Given the description of an element on the screen output the (x, y) to click on. 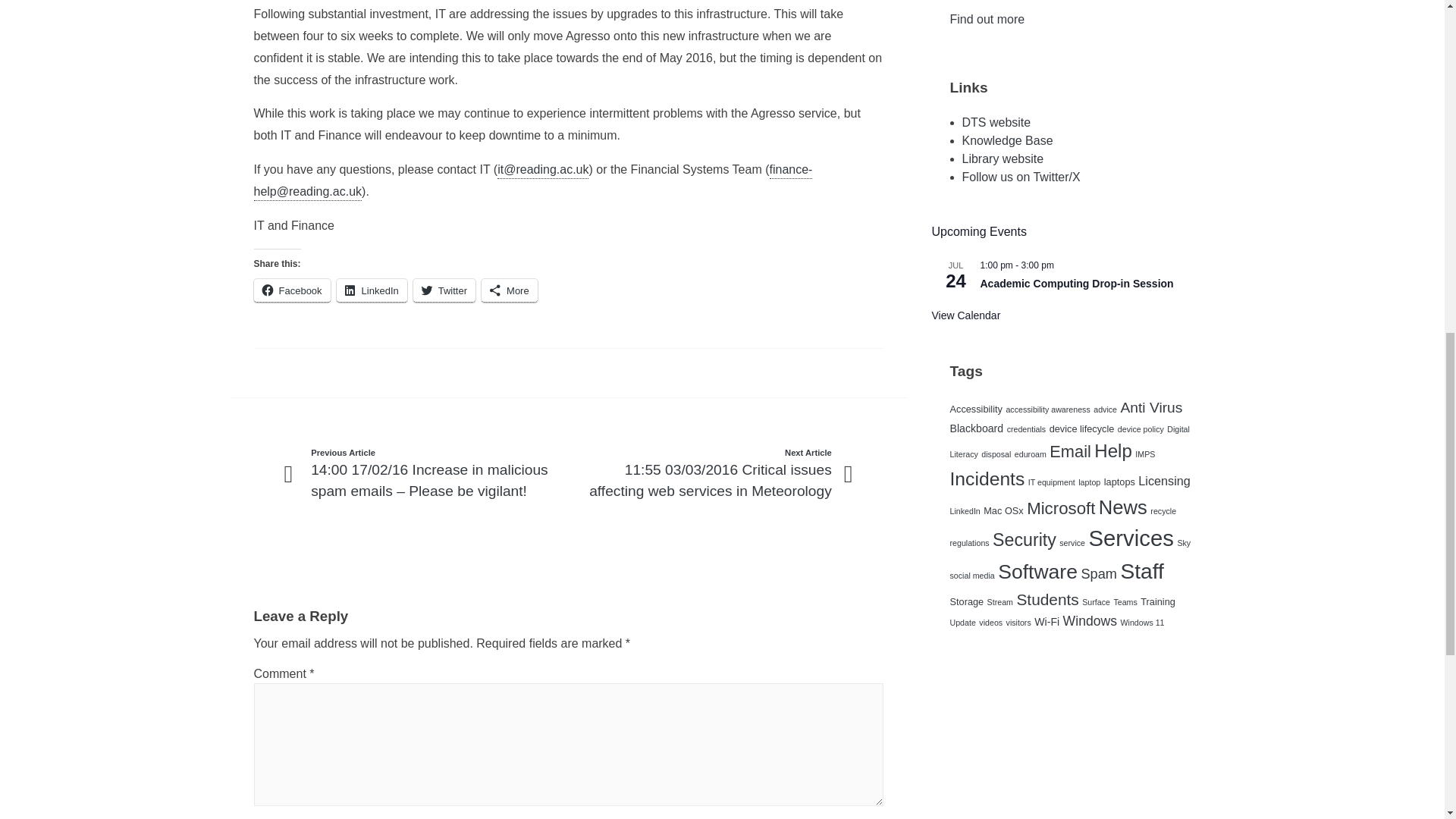
Click to share on LinkedIn (371, 290)
Find out more (987, 19)
accessibility awareness (1047, 409)
Click to share on Facebook (291, 290)
Library website (1001, 158)
Blackboard (976, 428)
View Calendar (965, 315)
credentials (1026, 429)
More (509, 290)
advice (1104, 409)
LinkedIn (371, 290)
Academic Computing Drop-in Session (1076, 283)
Knowledge Base (1006, 140)
DTS website (995, 122)
Academic Computing Drop-in Session (1076, 283)
